Given the description of an element on the screen output the (x, y) to click on. 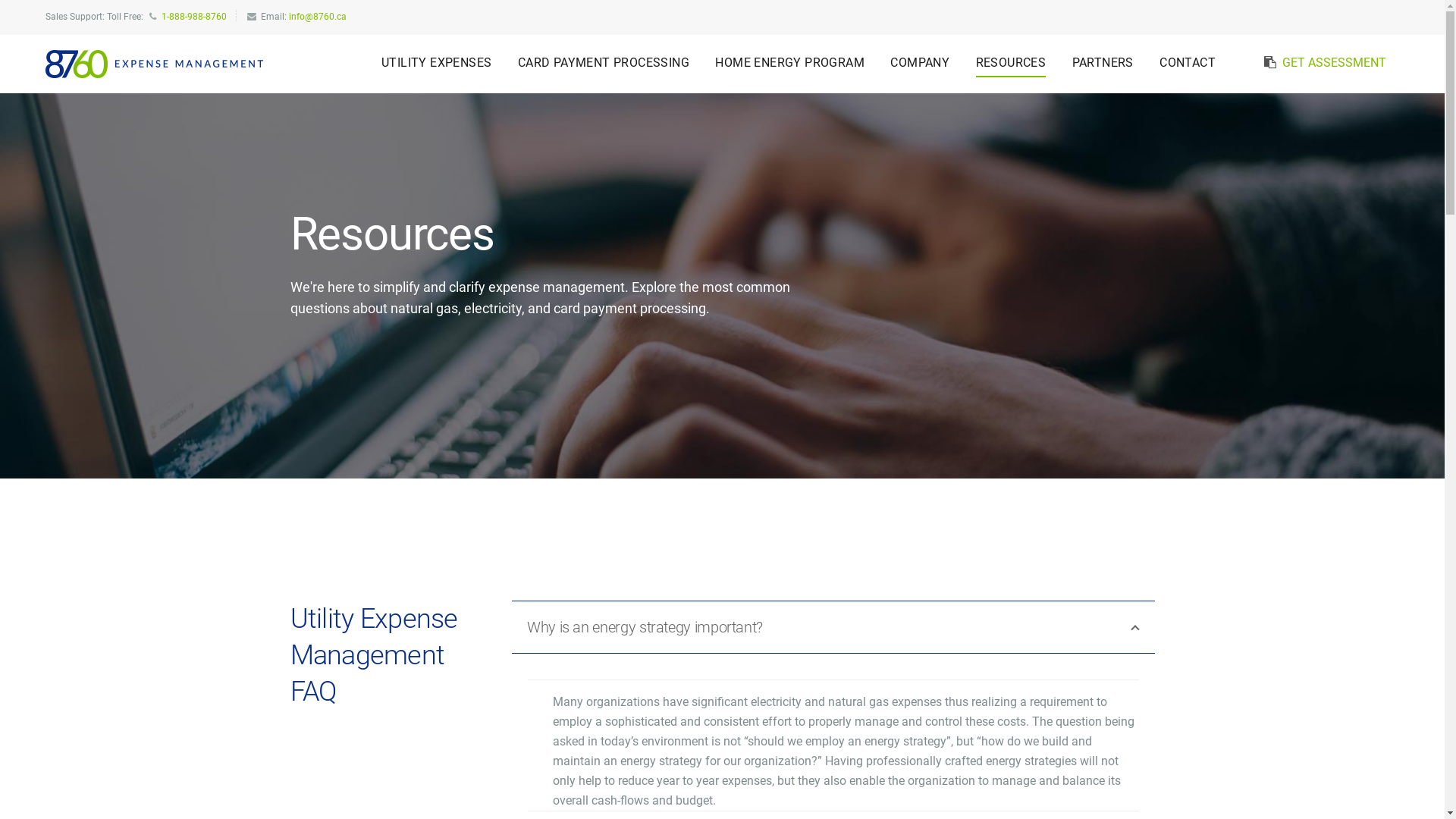
Why is an energy strategy important? Element type: text (832, 626)
GET ASSESSMENT Element type: text (1334, 62)
COMPANY Element type: text (919, 62)
UTILITY EXPENSES Element type: text (436, 62)
PARTNERS Element type: text (1102, 62)
CARD PAYMENT PROCESSING Element type: text (603, 62)
1-888-988-8760 Element type: text (193, 16)
info@8760.ca Element type: text (317, 16)
CONTACT Element type: text (1187, 62)
RESOURCES Element type: text (1010, 62)
HOME ENERGY PROGRAM Element type: text (789, 62)
